Given the description of an element on the screen output the (x, y) to click on. 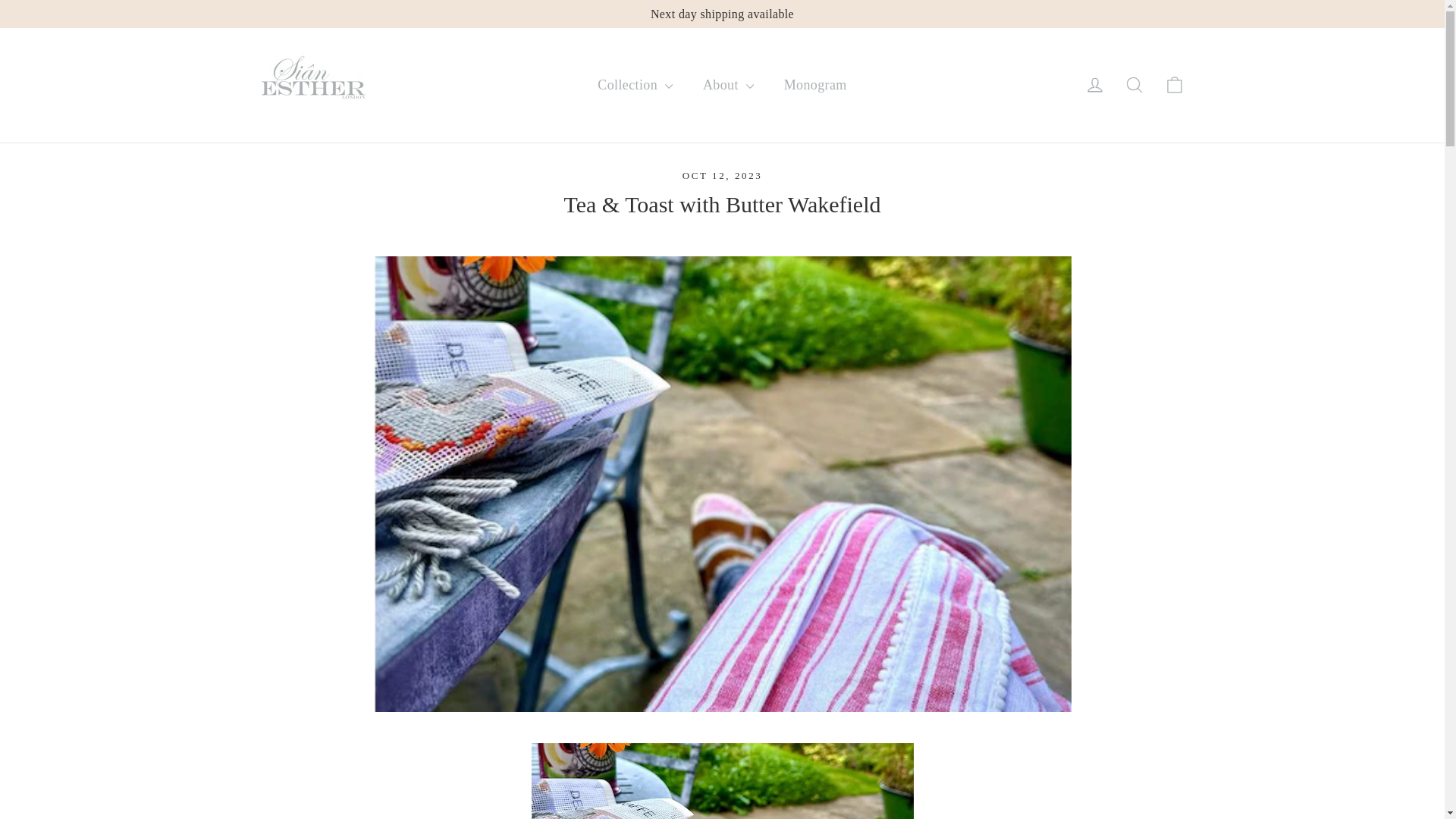
icon-search (1173, 84)
Monogram (1095, 84)
Red Striped Robe (1134, 84)
icon-bag-minimal (1134, 84)
account (814, 85)
